Given the description of an element on the screen output the (x, y) to click on. 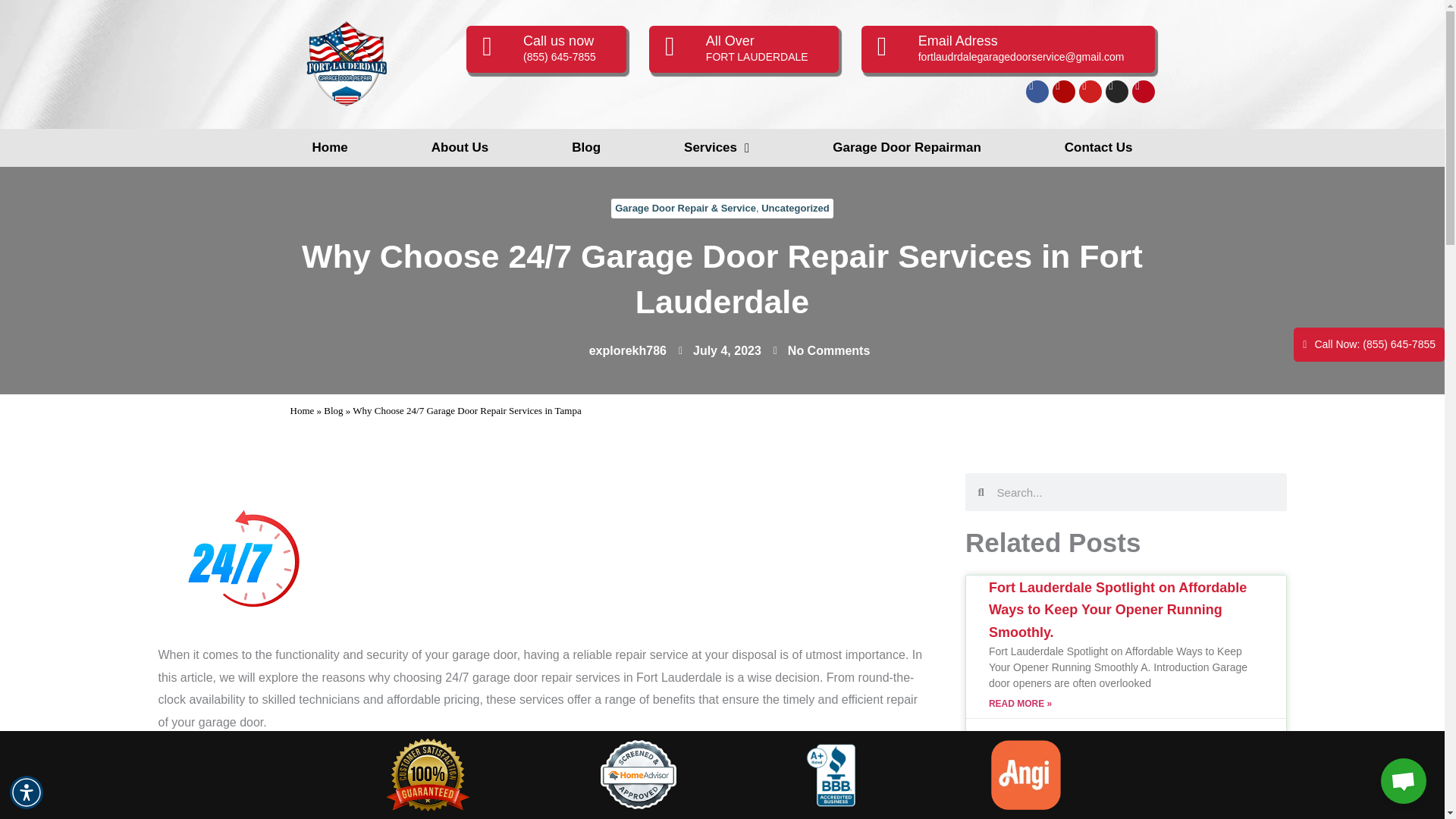
No Comments (821, 350)
Home (329, 147)
Contact Us (1098, 147)
Call us now (558, 40)
Garage Door Repairman (905, 147)
Email Adress (957, 40)
Home (301, 410)
Blog (332, 410)
Accessibility Menu (26, 792)
explorekh786 (620, 350)
Blog (585, 147)
Services (716, 147)
Uncategorized (795, 207)
About Us (459, 147)
July 4, 2023 (719, 350)
